Given the description of an element on the screen output the (x, y) to click on. 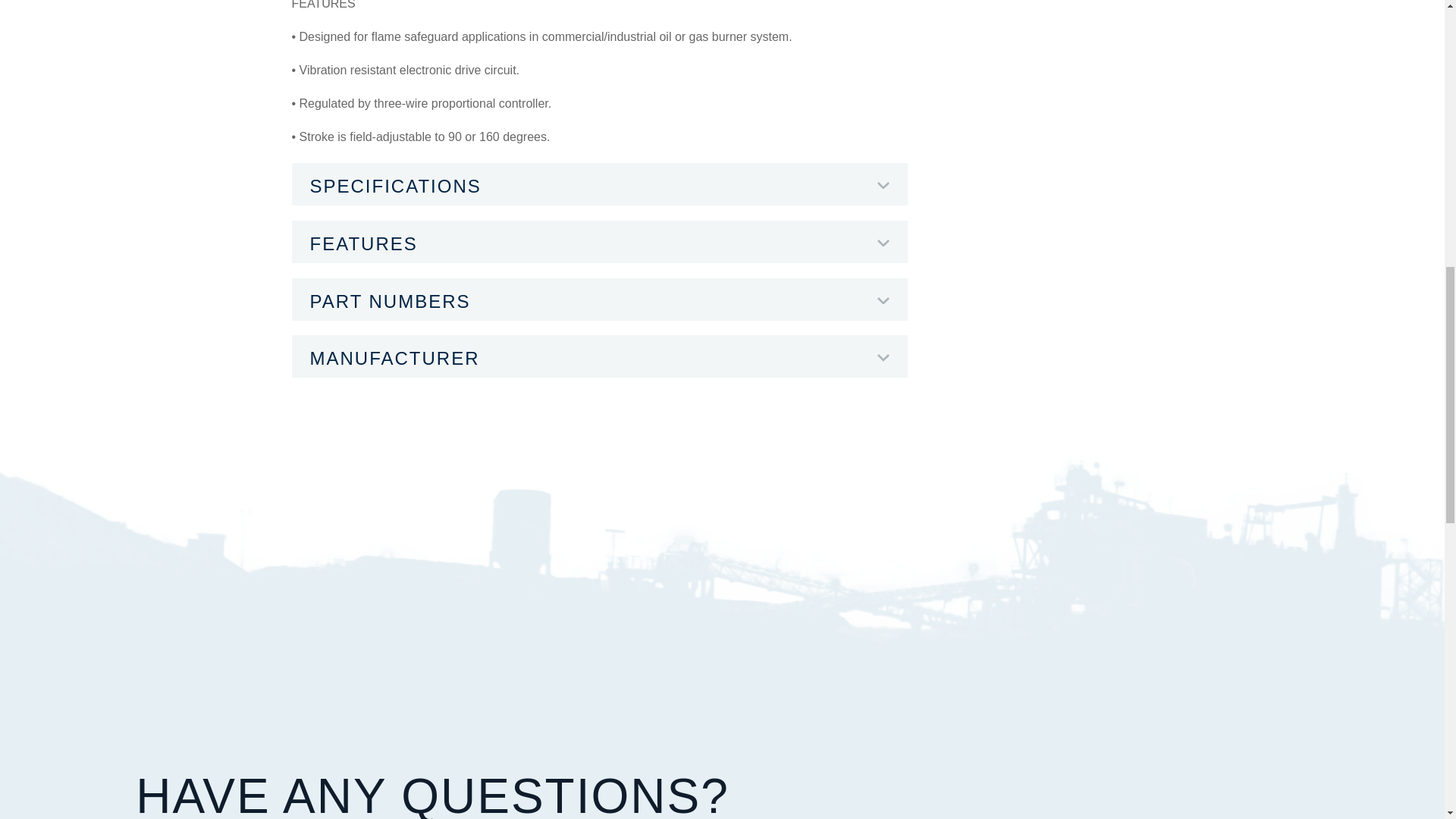
SPECIFICATIONS (599, 183)
MANUFACTURER (599, 355)
FEATURES (599, 241)
PART NUMBERS (599, 298)
